Given the description of an element on the screen output the (x, y) to click on. 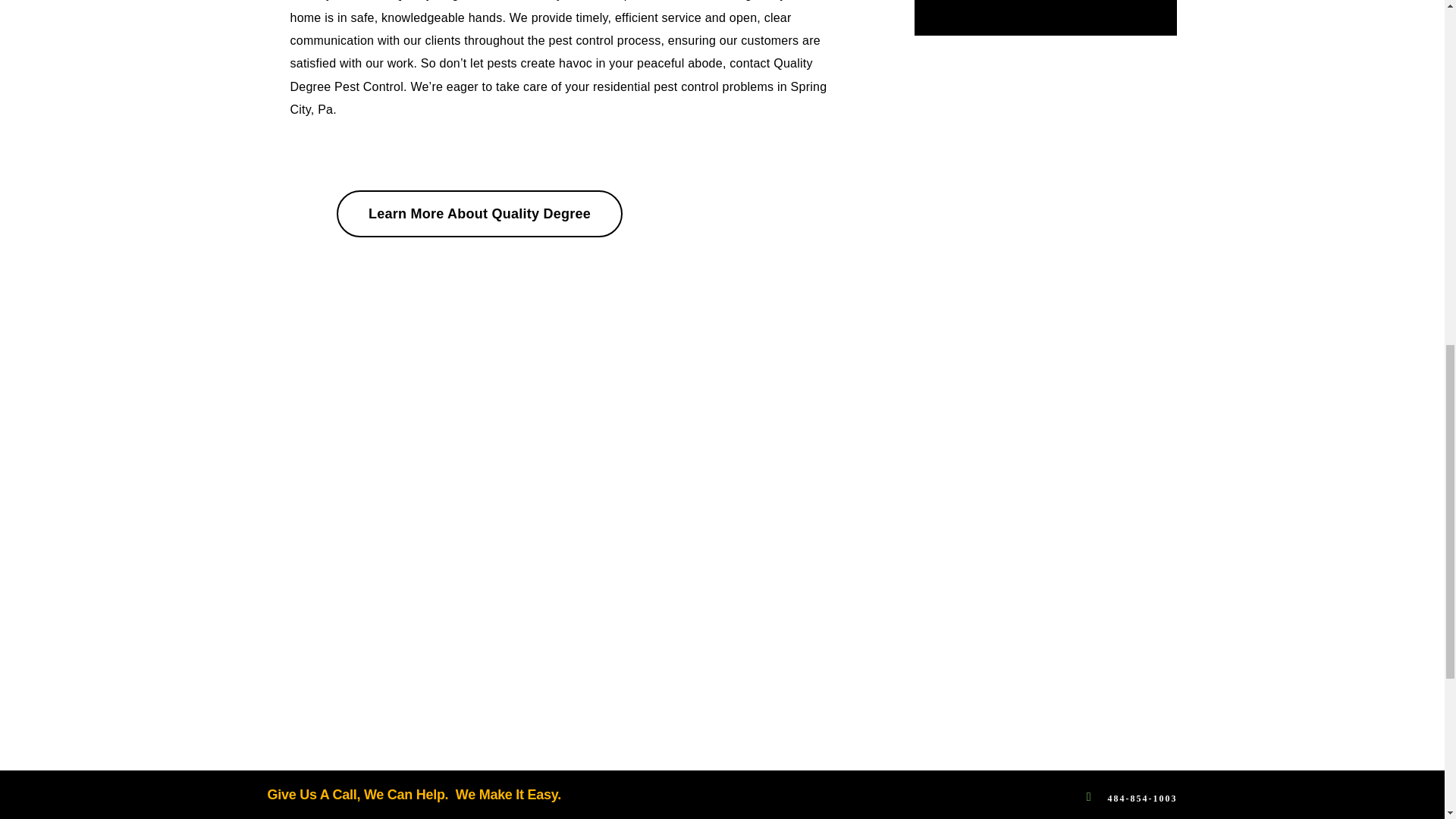
Learn More About Quality Degree (479, 213)
484-854-1003 (1141, 797)
